Given the description of an element on the screen output the (x, y) to click on. 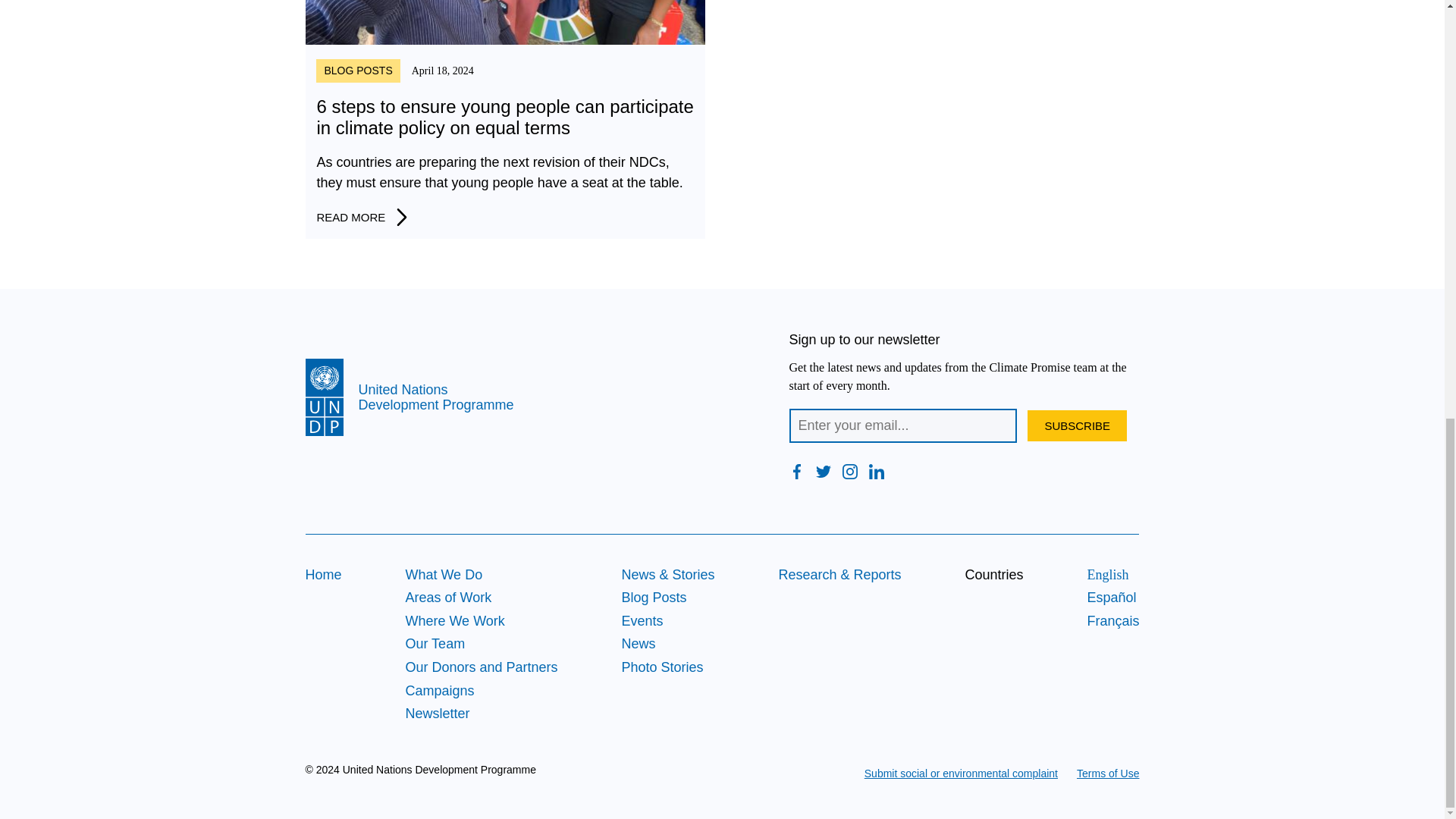
LinkedIn (876, 471)
Subscribe (1076, 425)
Photo: UNDP Barbados and Eastern Caribbean (504, 22)
